Given the description of an element on the screen output the (x, y) to click on. 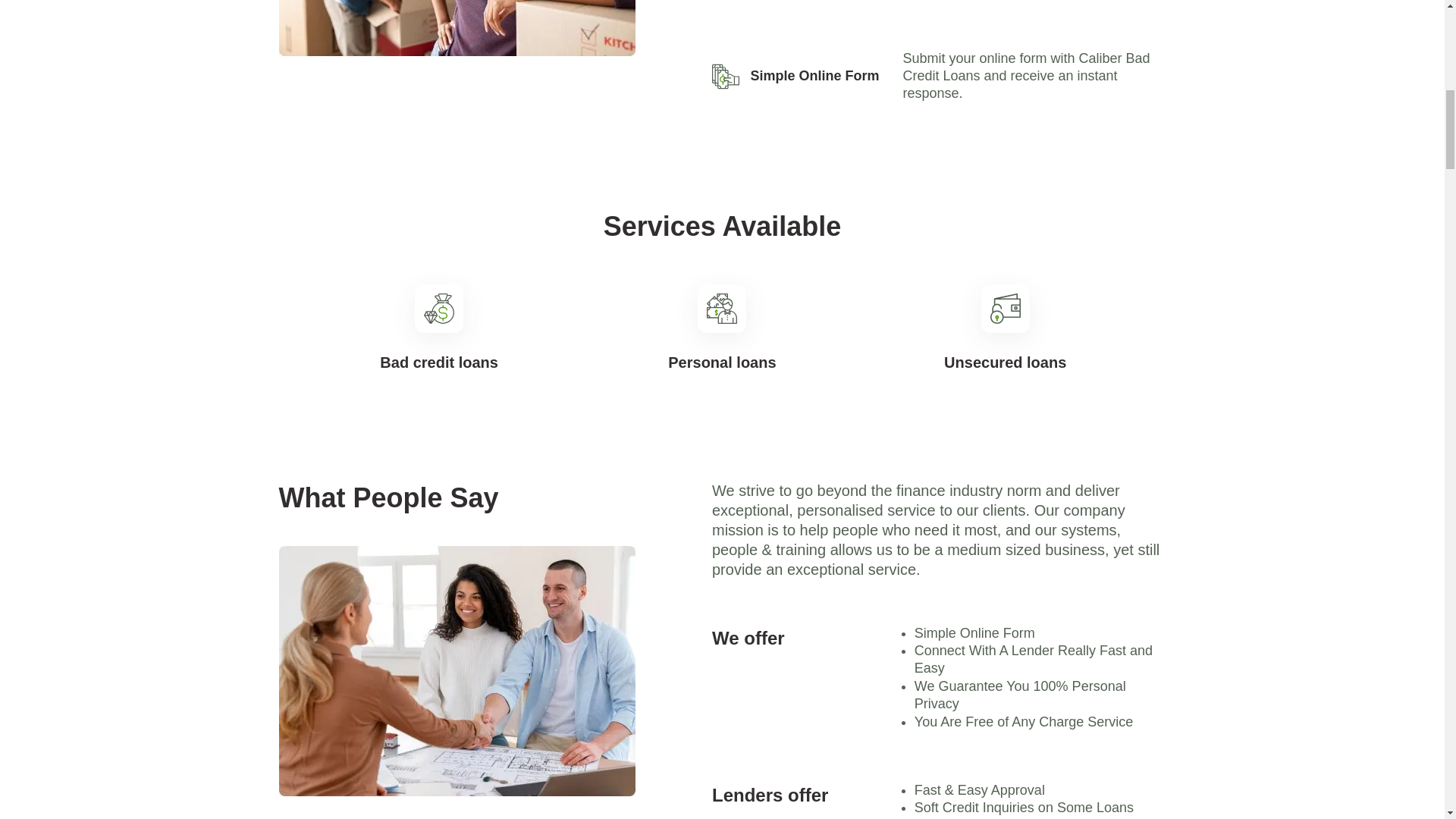
Scroll back to top (1406, 675)
